Given the description of an element on the screen output the (x, y) to click on. 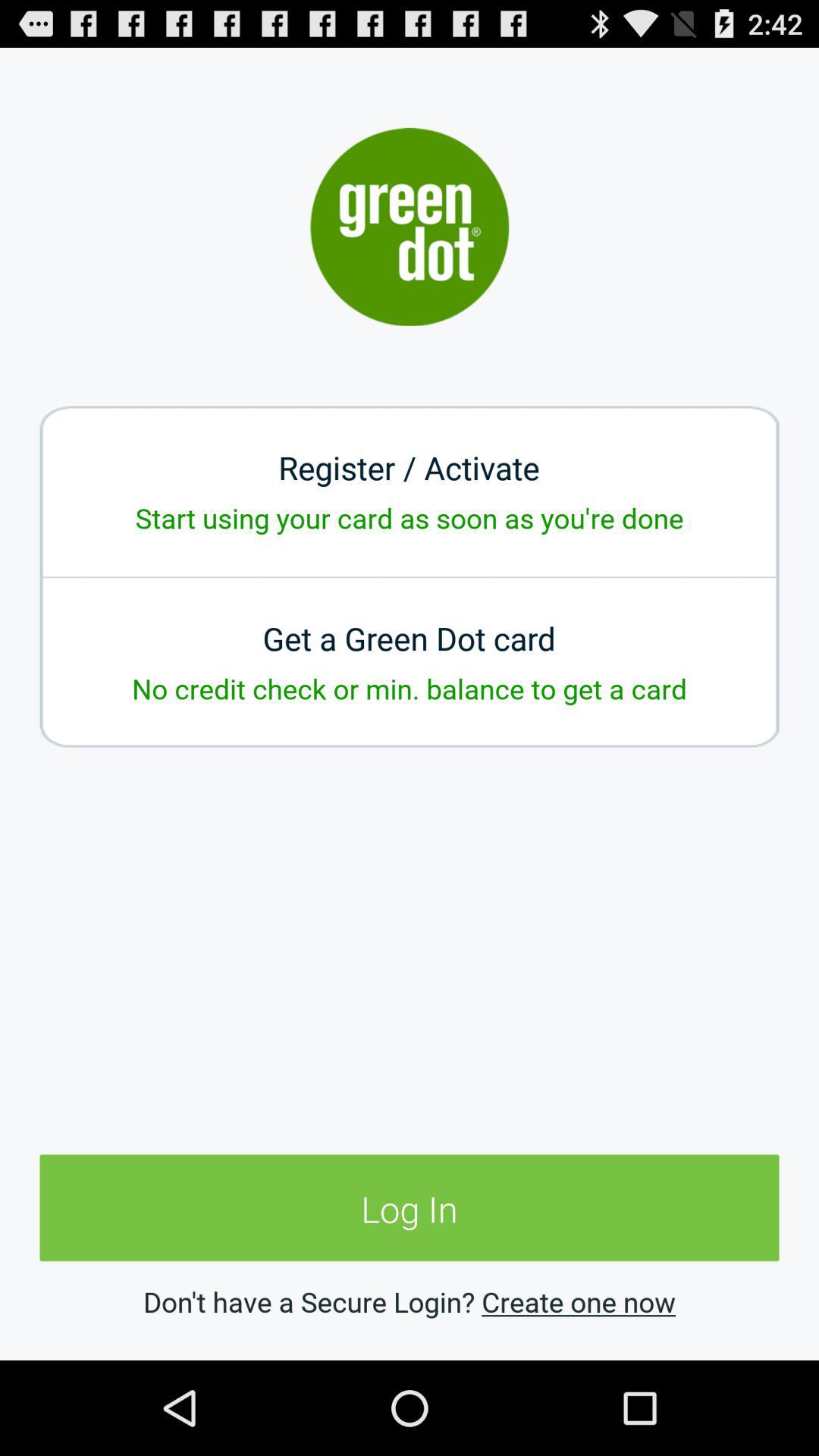
select the icon below the log in icon (578, 1301)
